Given the description of an element on the screen output the (x, y) to click on. 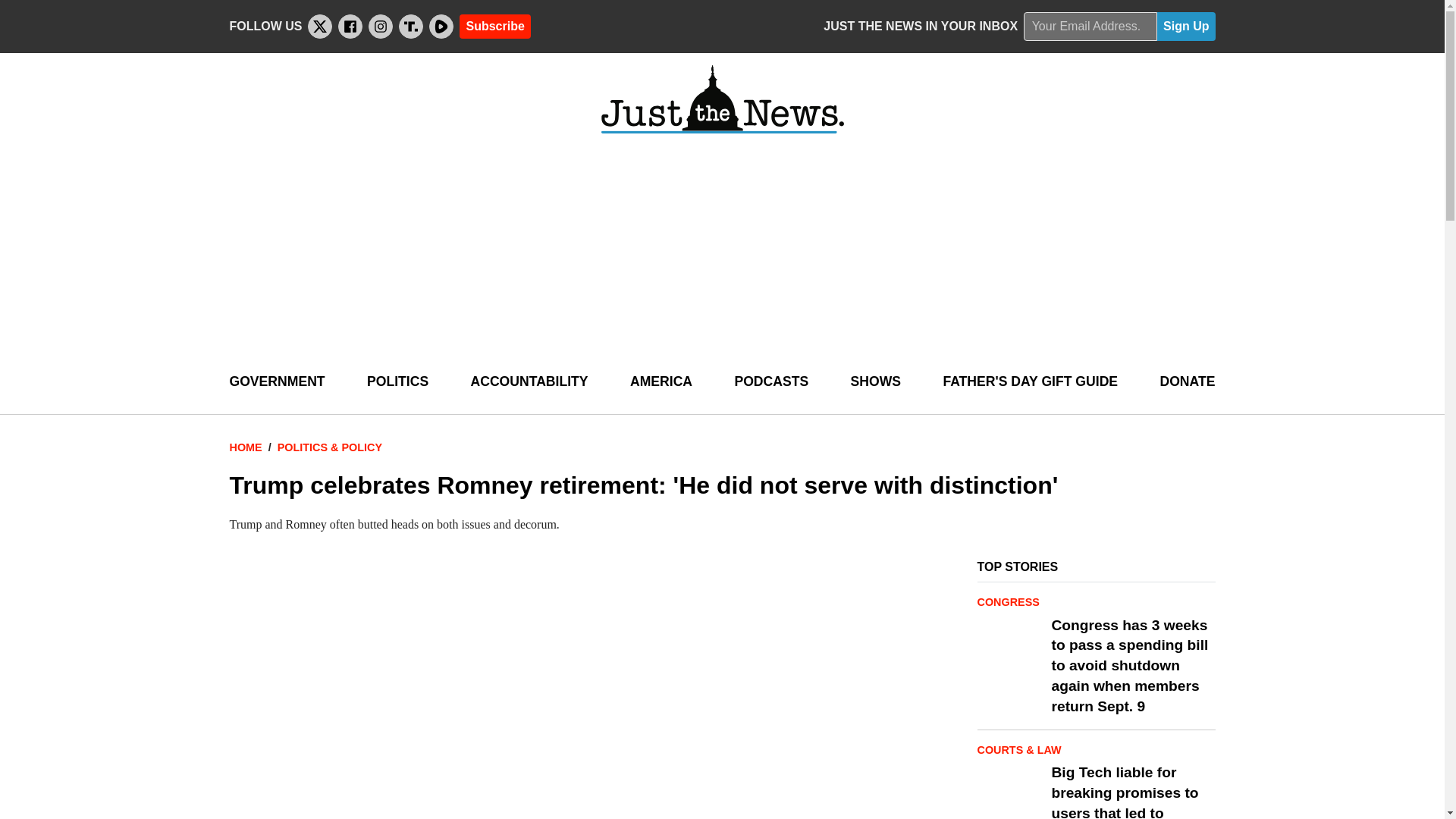
Sign Up (1185, 26)
Subscribe (494, 26)
DONATE (1186, 381)
GOVERNMENT (276, 381)
ACCOUNTABILITY (529, 381)
POLITICS (397, 381)
PODCASTS (770, 381)
FATHER'S DAY GIFT GUIDE (1030, 381)
Sign Up (1185, 26)
